Given the description of an element on the screen output the (x, y) to click on. 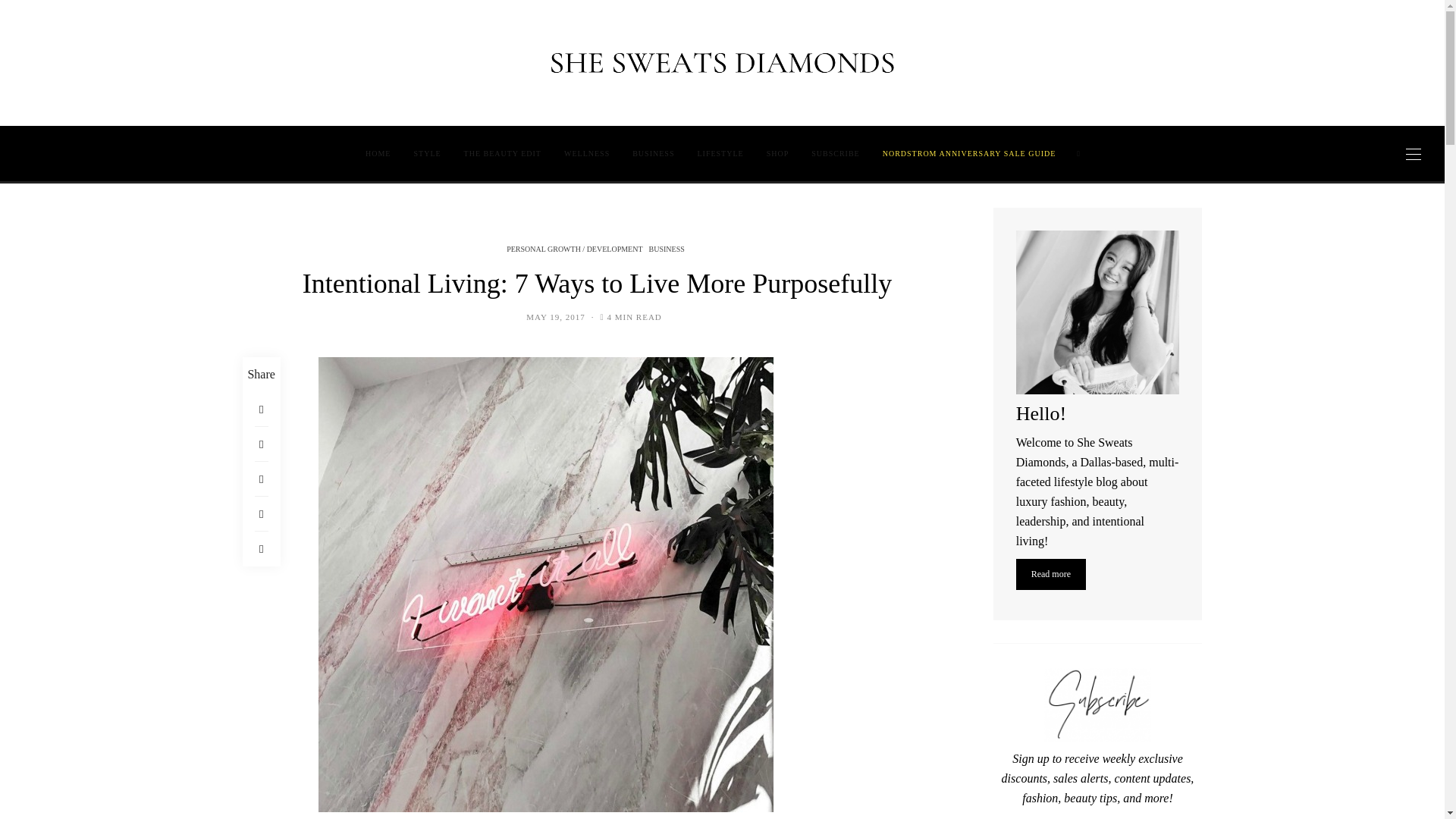
THE BEAUTY EDIT (502, 153)
WELLNESS (587, 153)
STYLE (426, 153)
